Given the description of an element on the screen output the (x, y) to click on. 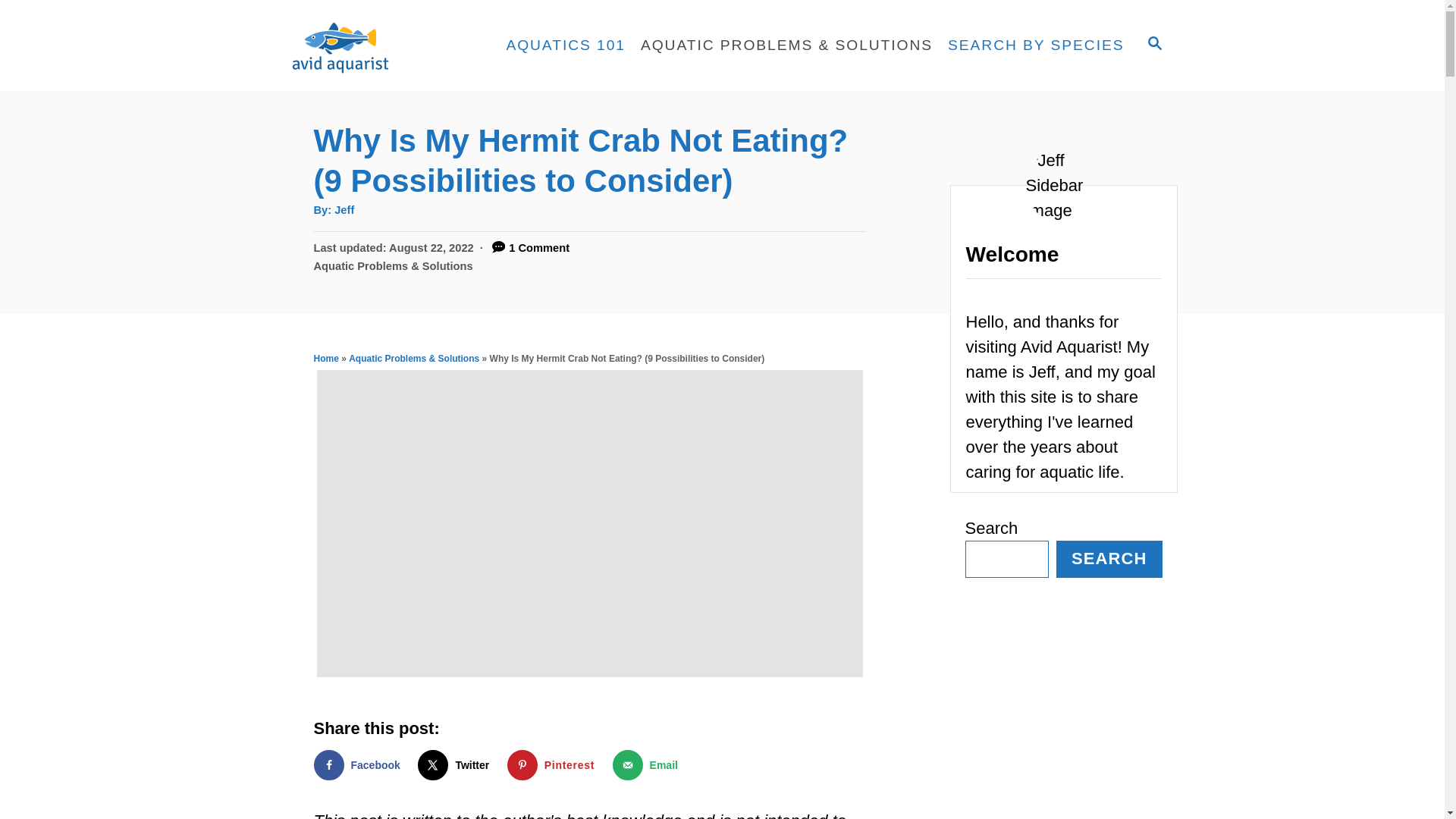
Share on Facebook (360, 765)
Send over email (648, 765)
Avid Aquarist (381, 45)
Jeff (343, 209)
Facebook (360, 765)
Twitter (456, 765)
Pinterest (553, 765)
Save to Pinterest (553, 765)
Share on X (456, 765)
SEARCH (1153, 45)
